Given the description of an element on the screen output the (x, y) to click on. 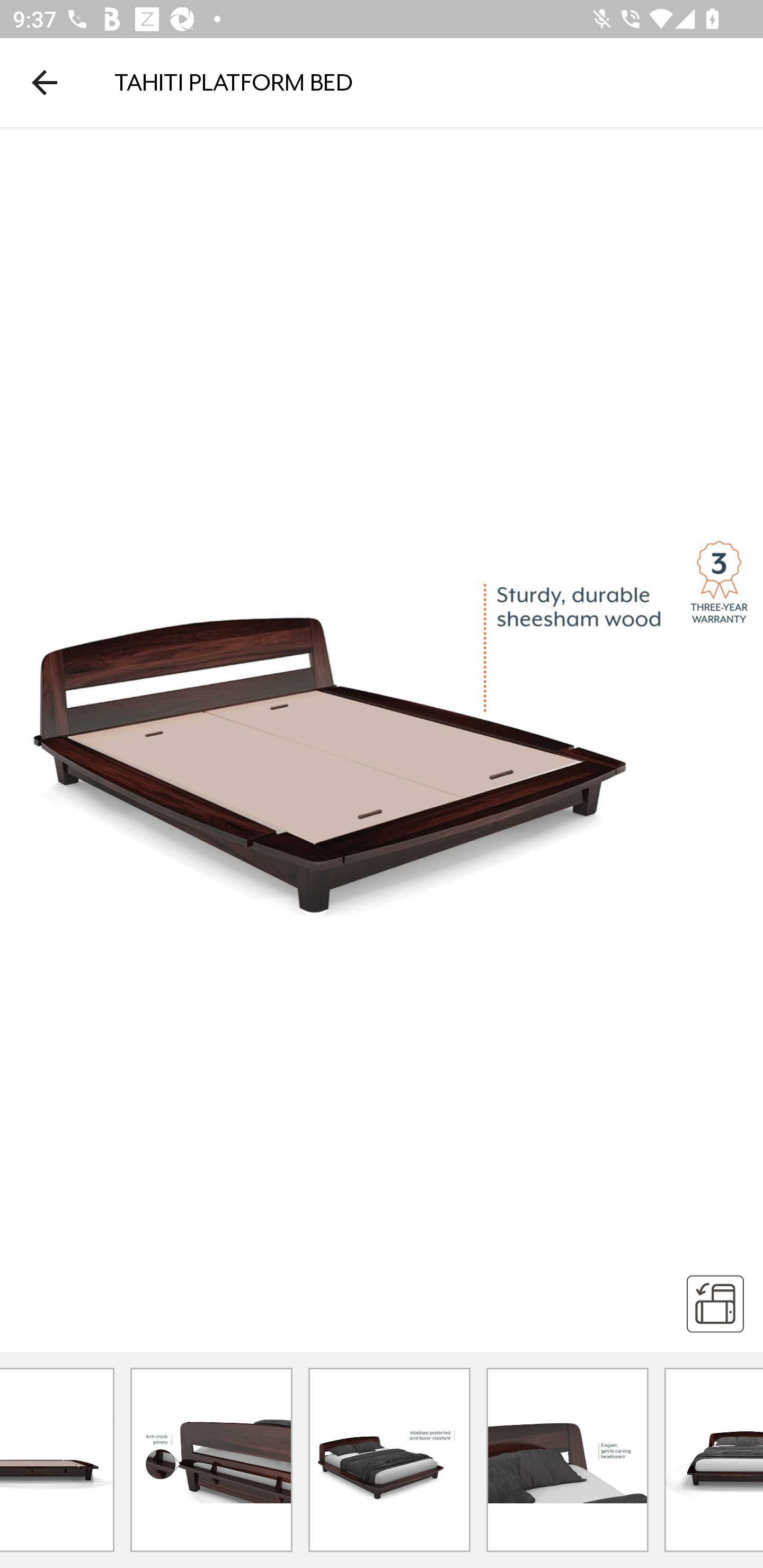
Navigate up (44, 82)
 (715, 1302)
